Given the description of an element on the screen output the (x, y) to click on. 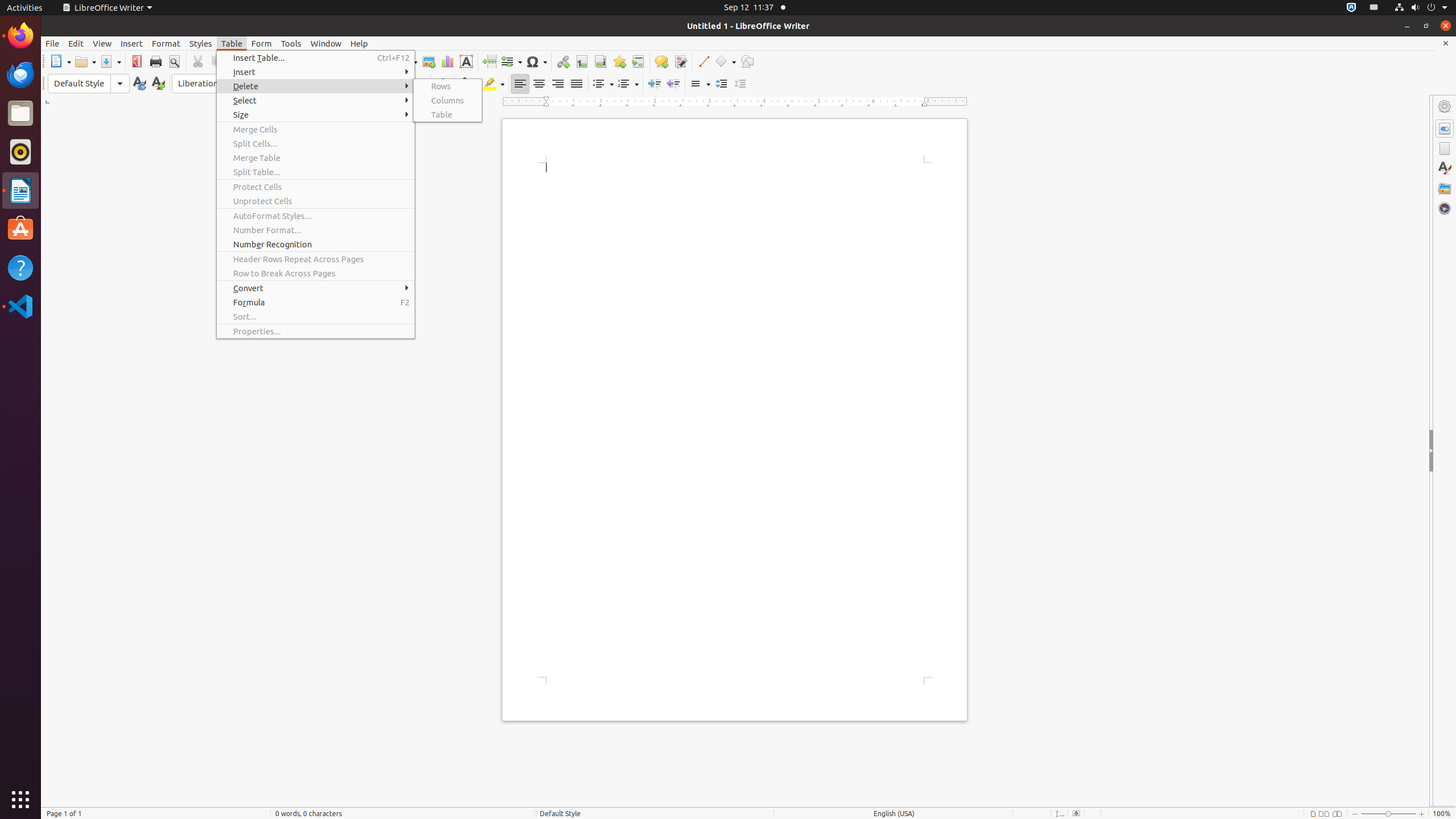
Open Element type: push-button (84, 61)
Convert Element type: menu (315, 287)
Save Element type: push-button (109, 61)
Insert Element type: menu (315, 71)
Bookmark Element type: push-button (618, 61)
